Given the description of an element on the screen output the (x, y) to click on. 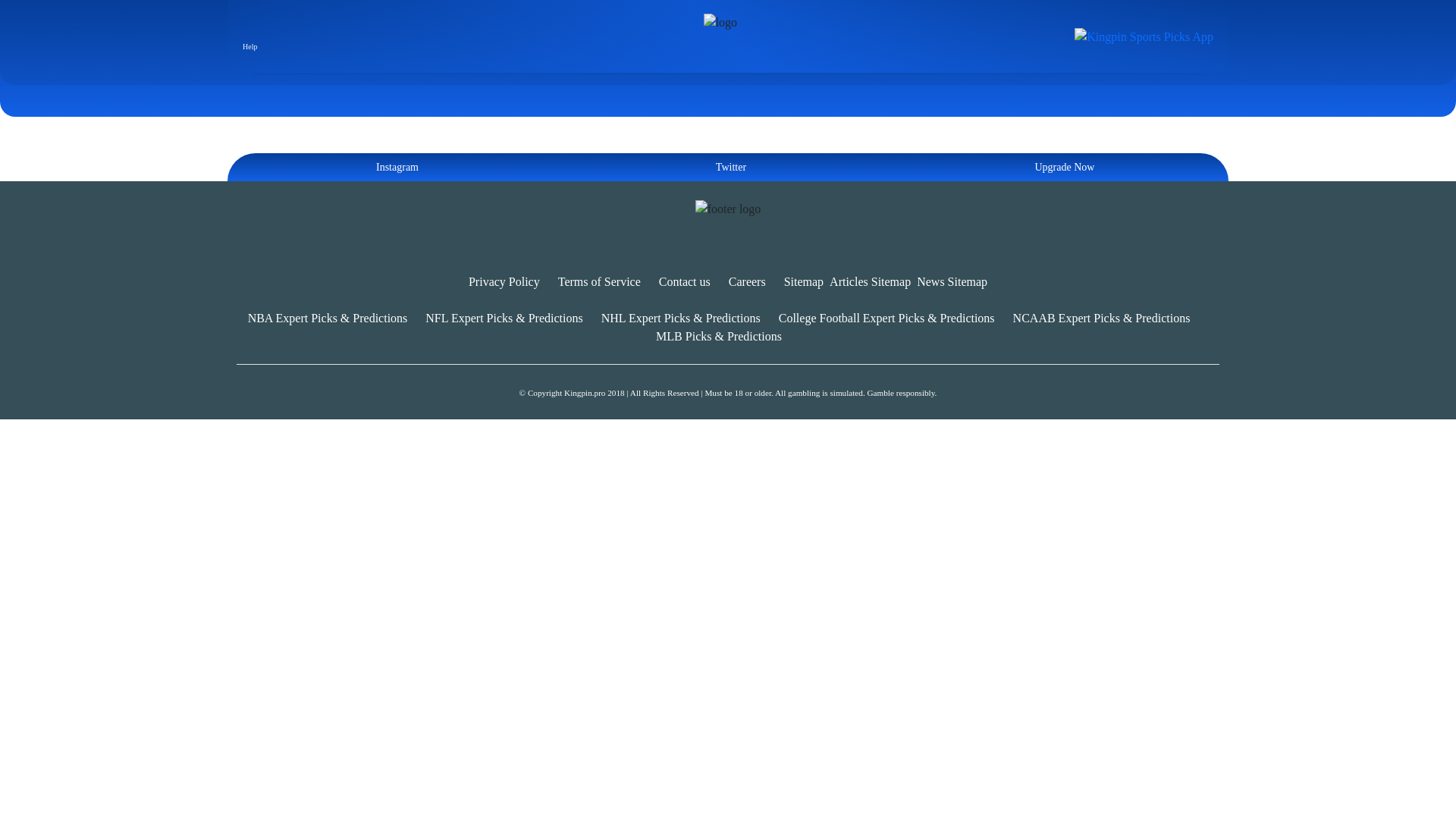
Instagram (393, 166)
Articles Sitemap (870, 281)
Kingpin Sports Picks App (1143, 34)
Contact us (684, 281)
Upgrade Now (1062, 166)
Careers (747, 281)
Privacy Policy (504, 281)
Sitemap (804, 281)
Terms of Service (598, 281)
News Sitemap (952, 281)
